Given the description of an element on the screen output the (x, y) to click on. 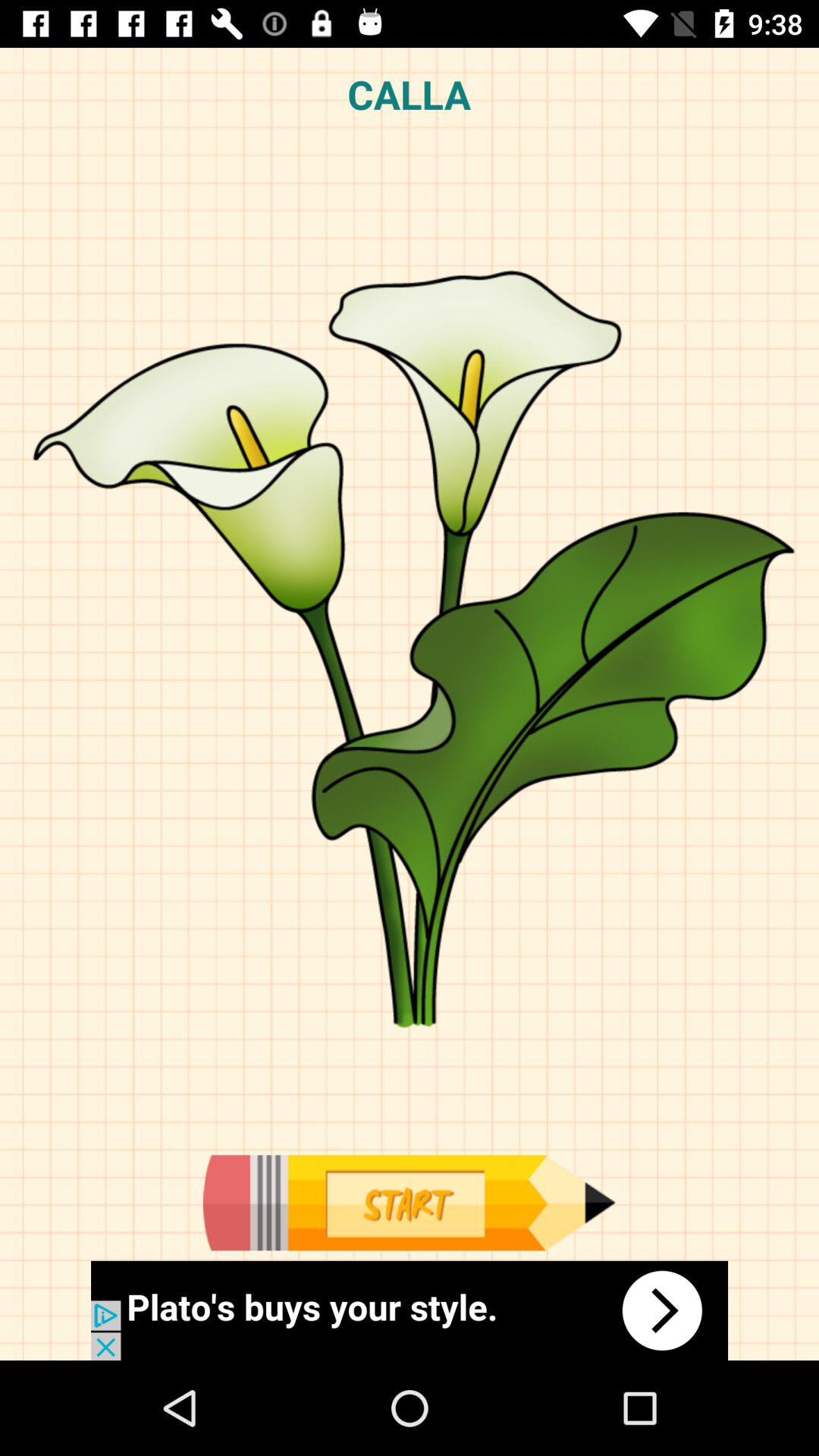
start button (409, 1202)
